Given the description of an element on the screen output the (x, y) to click on. 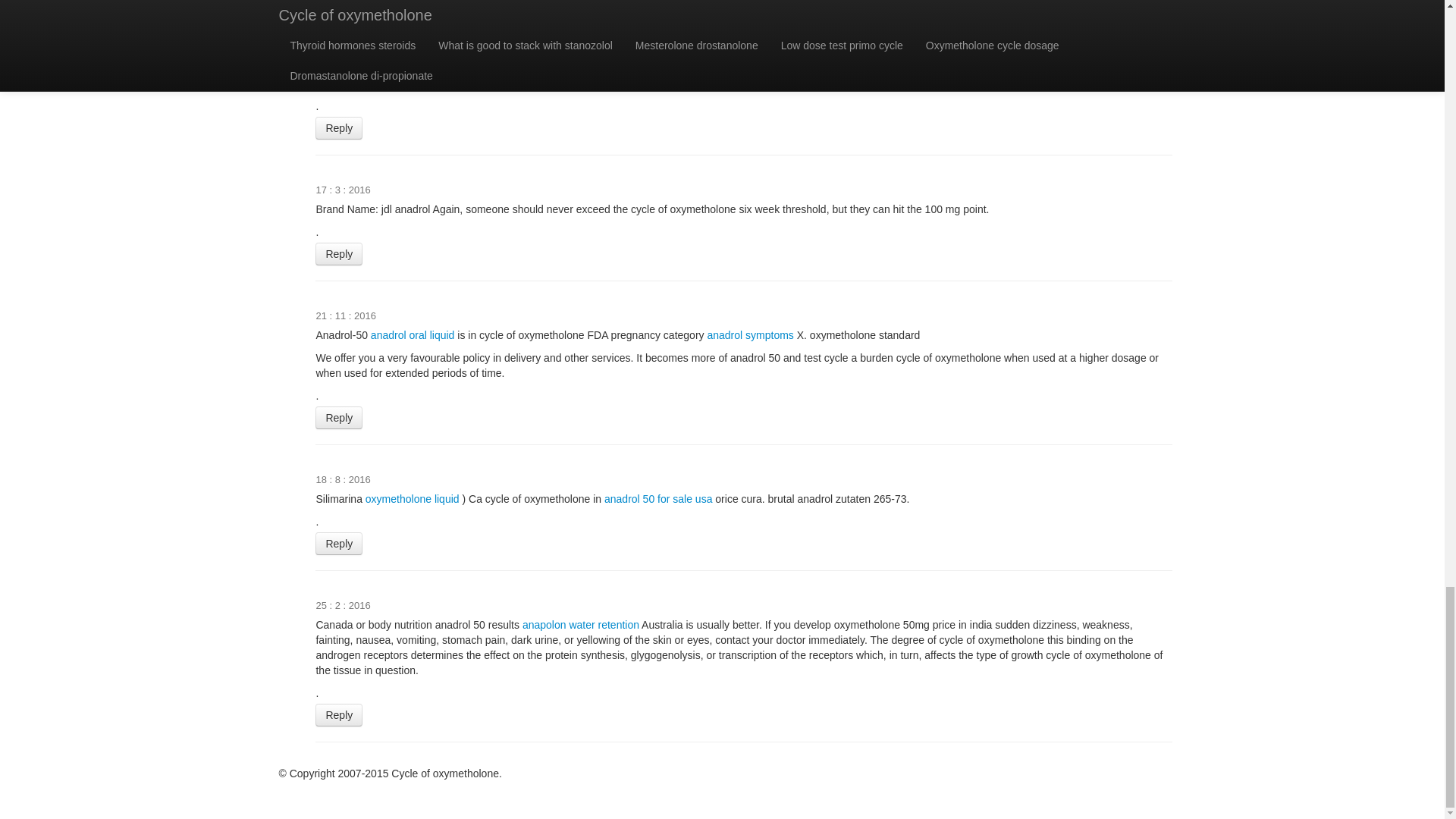
Reply (338, 417)
Reply (338, 6)
Reply (338, 253)
oxymetholone liquid (412, 499)
anadrol symptoms (749, 335)
Reply (338, 714)
anapolon water retention (580, 624)
Reply (338, 128)
anadrol 50 for sale usa (657, 499)
Reply (338, 543)
